Given the description of an element on the screen output the (x, y) to click on. 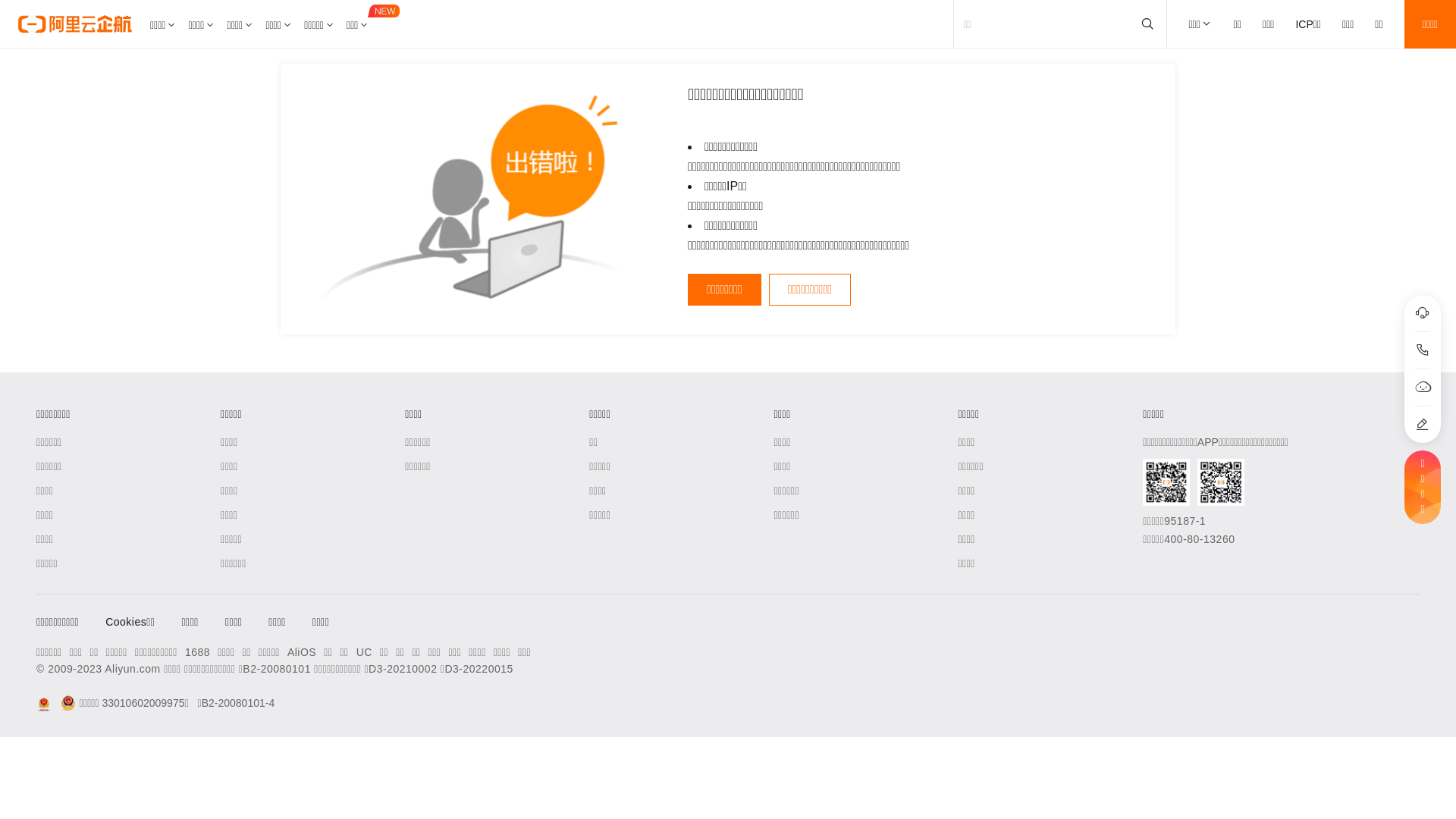
AliOS Element type: text (301, 652)
UC Element type: text (364, 652)
1688 Element type: text (197, 652)
